Given the description of an element on the screen output the (x, y) to click on. 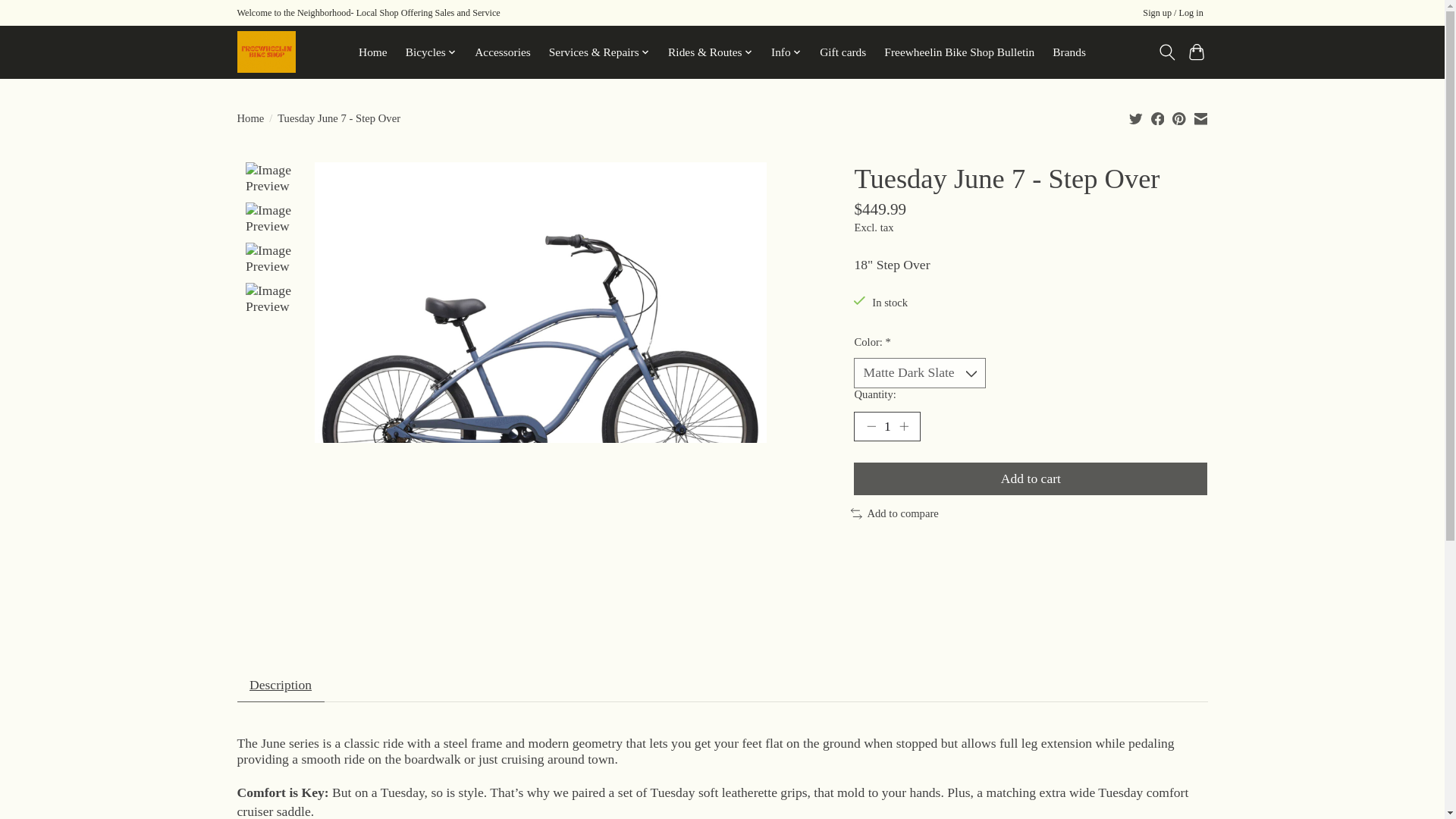
Share on Pinterest (1178, 118)
Bicycles (431, 52)
Freewheelin' Bike Shop (265, 51)
Share on Facebook (1157, 118)
Accessories (501, 52)
My account (1173, 13)
Share by Email (1200, 118)
Home (373, 52)
Info (786, 52)
Share on Twitter (1135, 118)
